Given the description of an element on the screen output the (x, y) to click on. 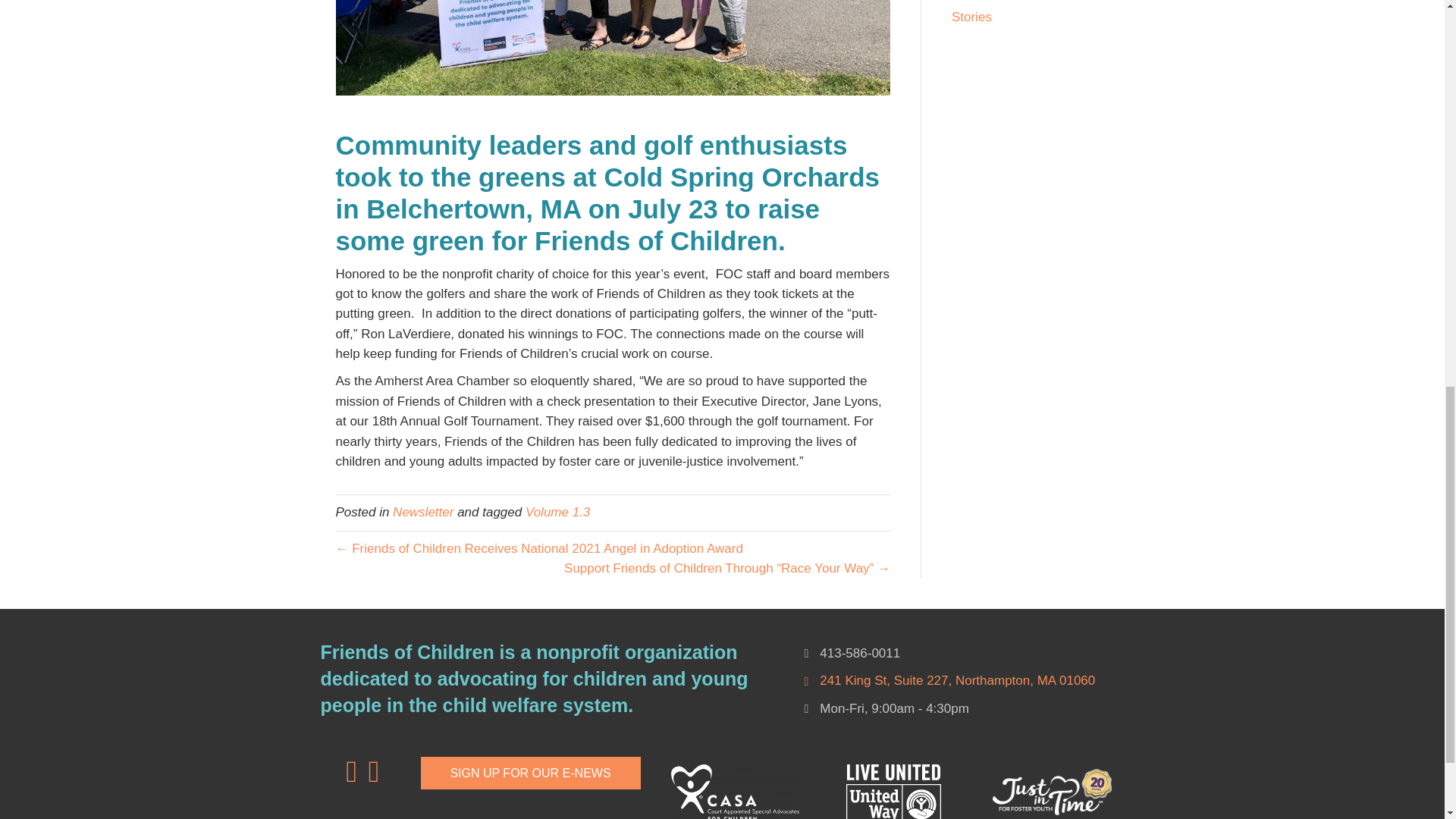
Newsletter (422, 512)
Volume 1.3 (557, 512)
united-way-logo-white1 (892, 791)
JIT-logo-white-Artboard 1-ScreenT-800px (1051, 791)
